Given the description of an element on the screen output the (x, y) to click on. 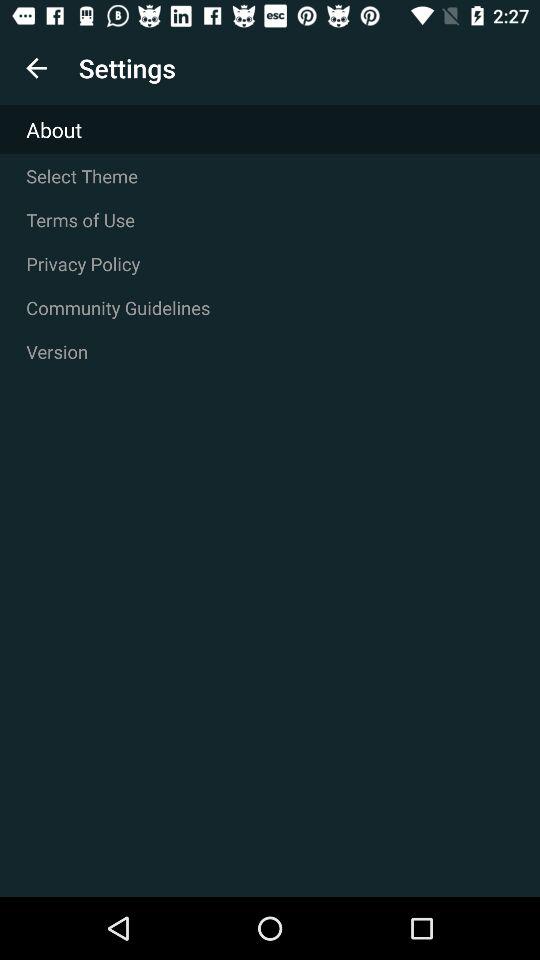
open the icon above privacy policy icon (270, 219)
